Given the description of an element on the screen output the (x, y) to click on. 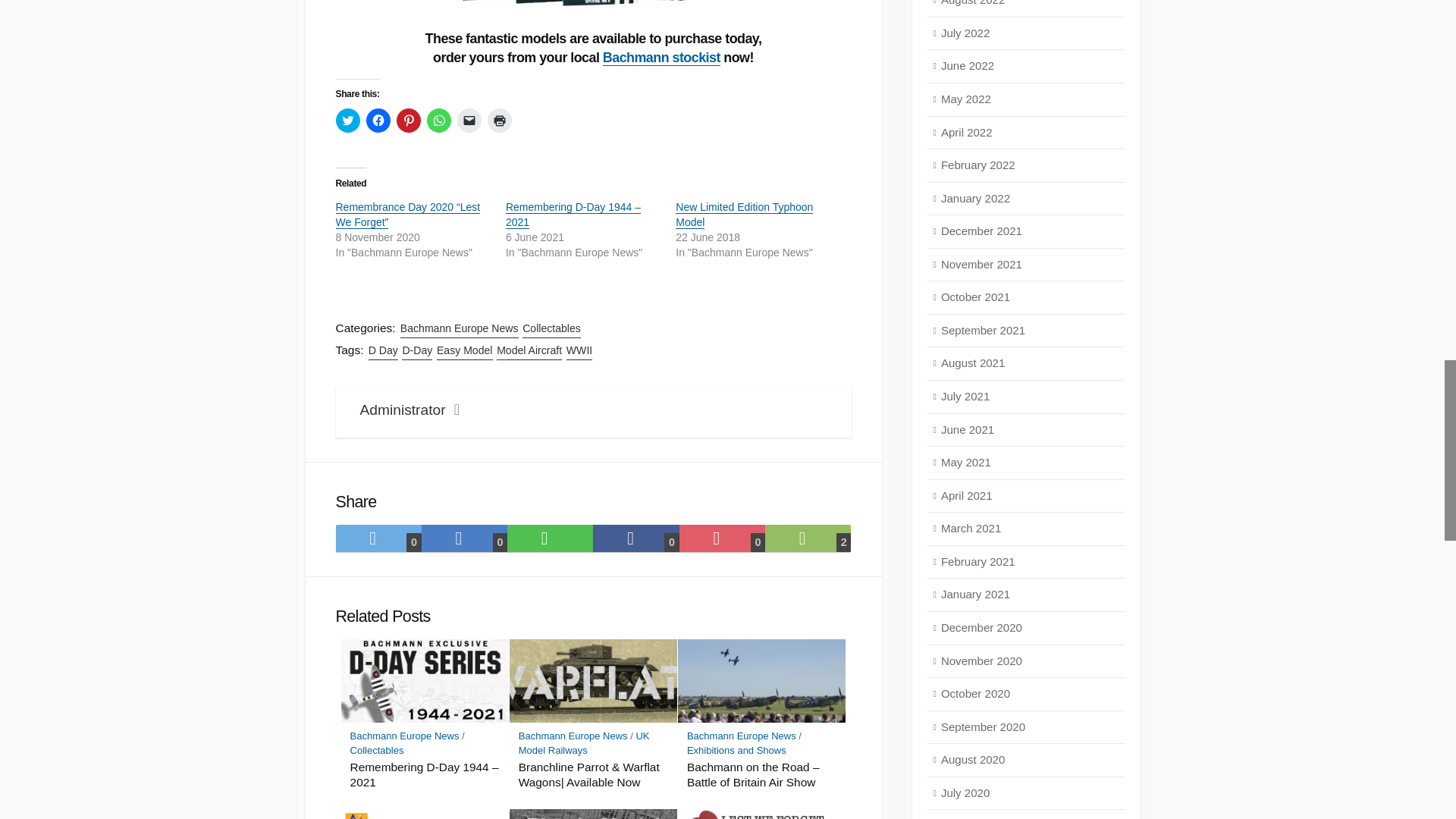
Model Aircraft (529, 350)
Click to share on Twitter (346, 120)
Bachmann stockist (661, 57)
New Limited Edition Typhoon Model (743, 214)
Easy Model (464, 350)
D Day (382, 350)
Click to share on Facebook (377, 120)
WWII (579, 350)
Collectables (551, 328)
Bachmann Europe News (459, 328)
